Given the description of an element on the screen output the (x, y) to click on. 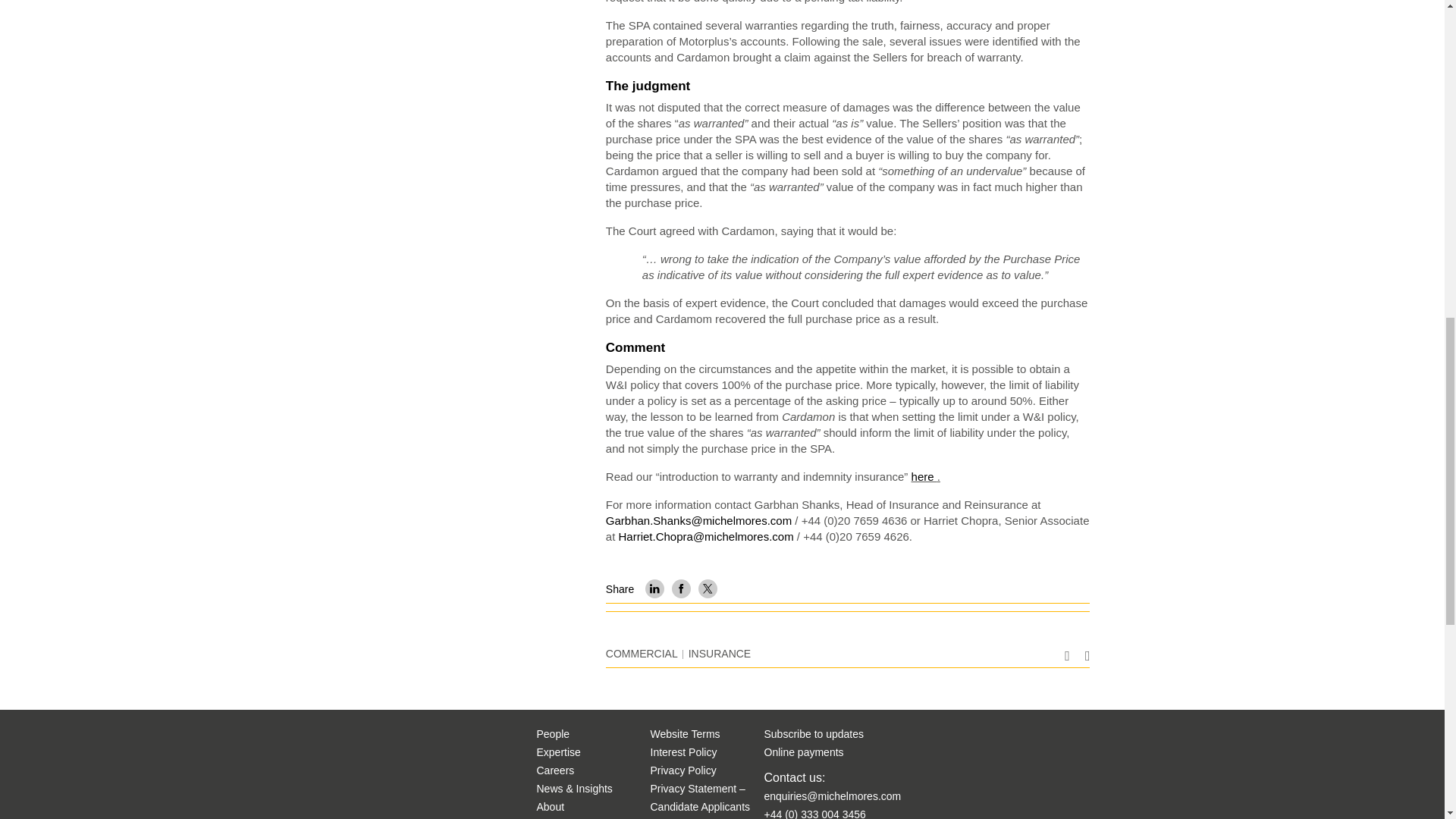
People (553, 734)
here  (924, 476)
COMMERCIAL (641, 653)
Interest Policy (683, 752)
INSURANCE (719, 653)
Careers (556, 770)
Privacy Policy (683, 770)
Expertise (558, 752)
Website Terms (685, 734)
About (550, 806)
